Given the description of an element on the screen output the (x, y) to click on. 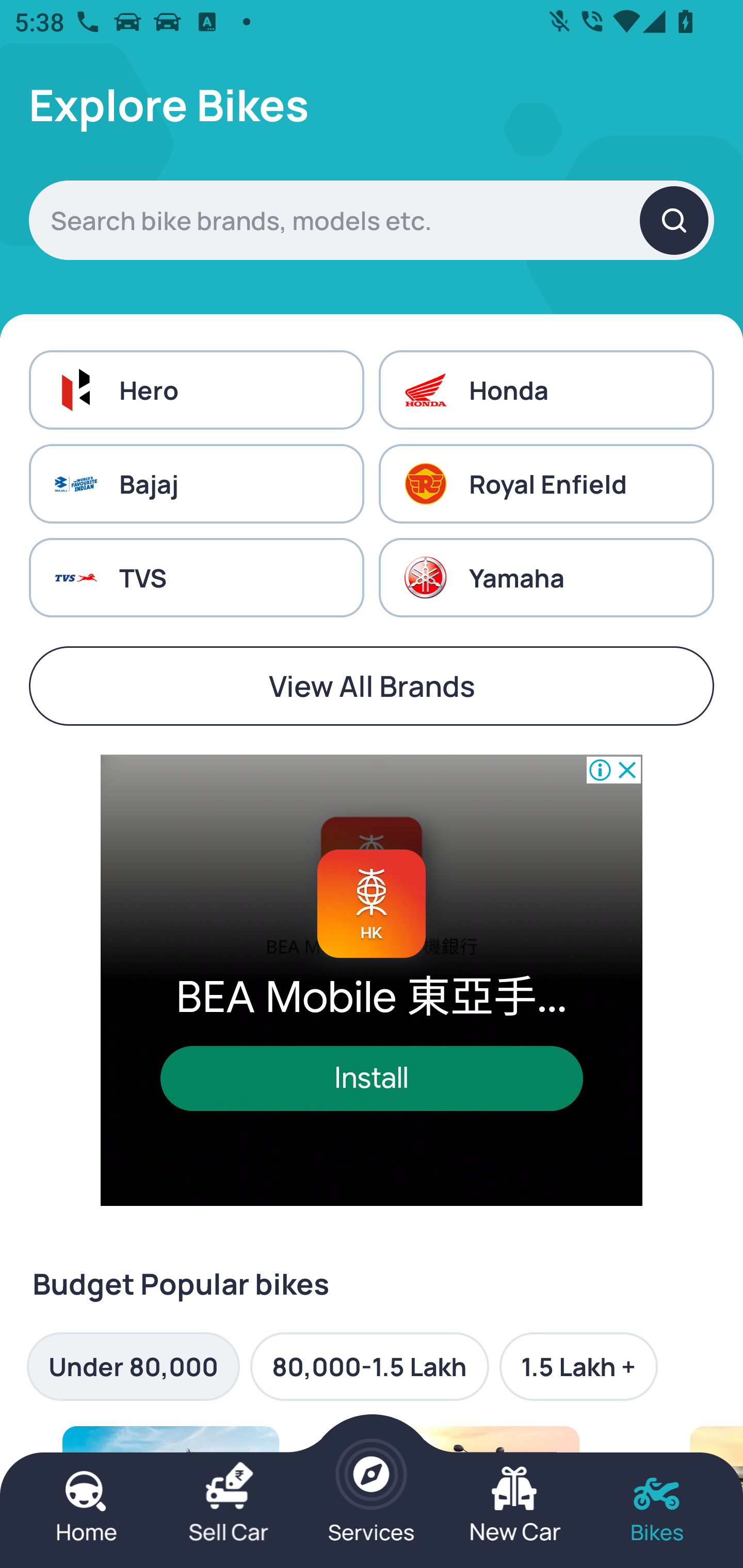
Search bike brands, models etc. (371, 220)
Hero (196, 389)
Honda (546, 389)
Bajaj (196, 483)
Royal Enfield (546, 483)
TVS (196, 577)
Yamaha (546, 577)
View All Brands (371, 685)
Install (371, 1077)
80,000-1.5 Lakh (369, 1366)
1.5 Lakh + (578, 1366)
